Given the description of an element on the screen output the (x, y) to click on. 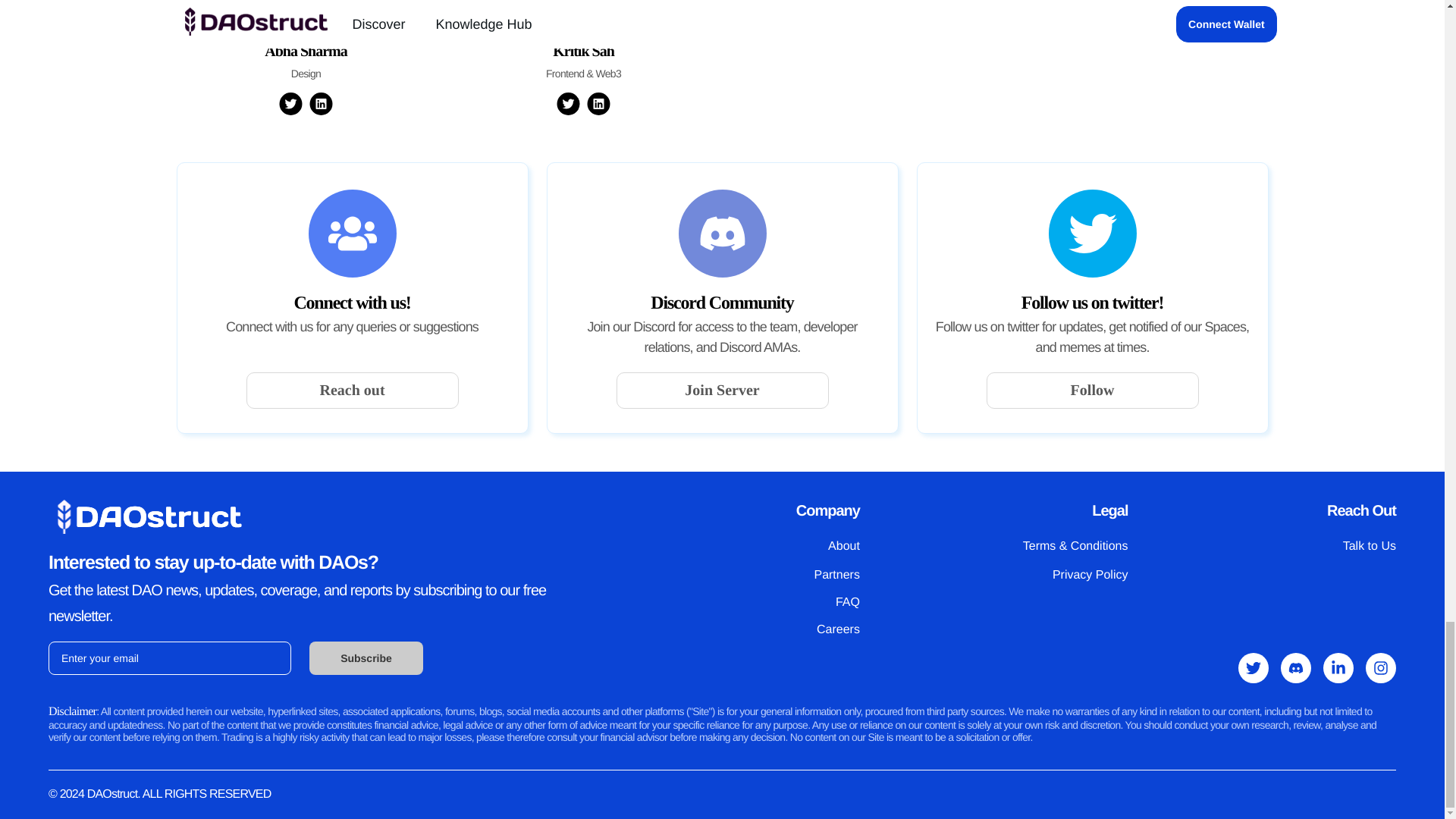
Reach out (352, 390)
Follow (1091, 390)
Careers (838, 629)
FAQ (847, 602)
Privacy Policy (1090, 574)
Partners (836, 574)
About (844, 545)
Subscribe (365, 657)
Join Server (721, 390)
Talk to Us (1369, 545)
